Given the description of an element on the screen output the (x, y) to click on. 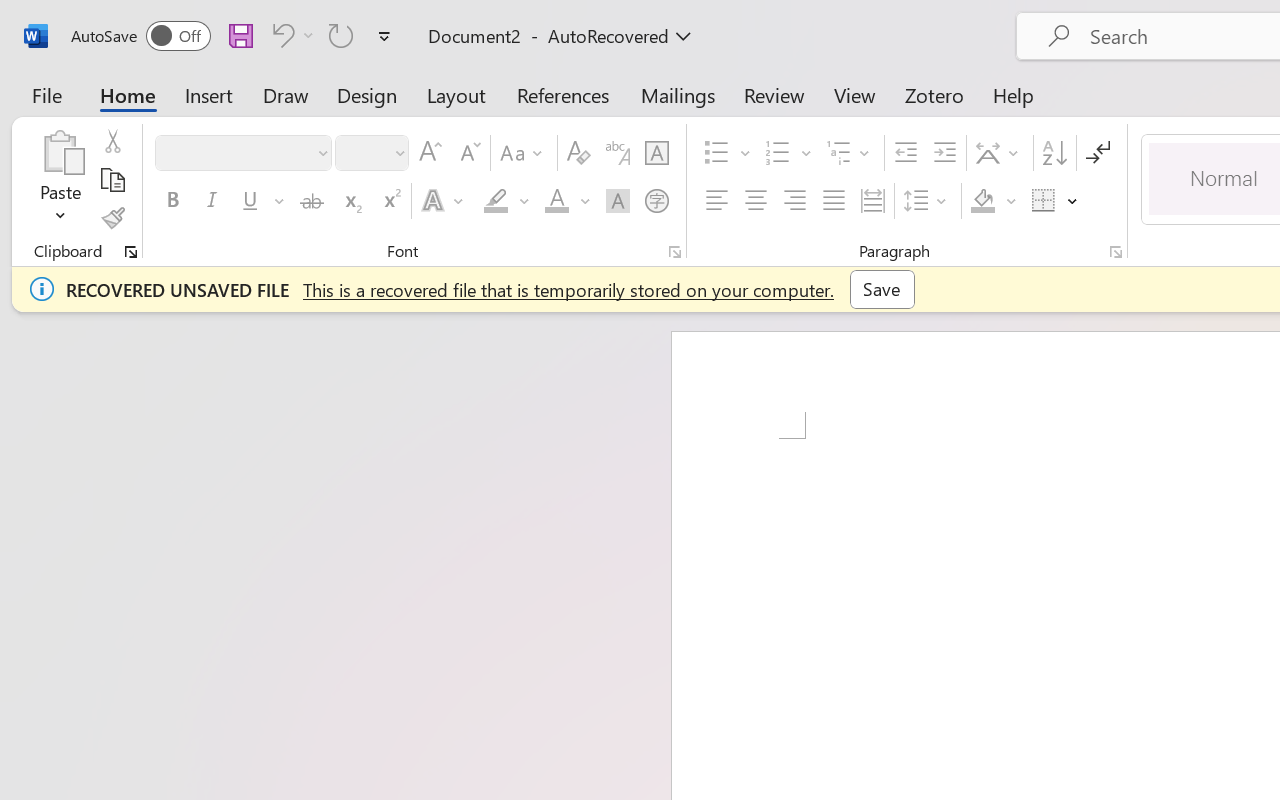
Superscript (390, 201)
Change Case (524, 153)
Character Border (656, 153)
Can't Undo (280, 35)
Italic (212, 201)
Asian Layout (1000, 153)
Sort... (1054, 153)
Character Shading (618, 201)
